Given the description of an element on the screen output the (x, y) to click on. 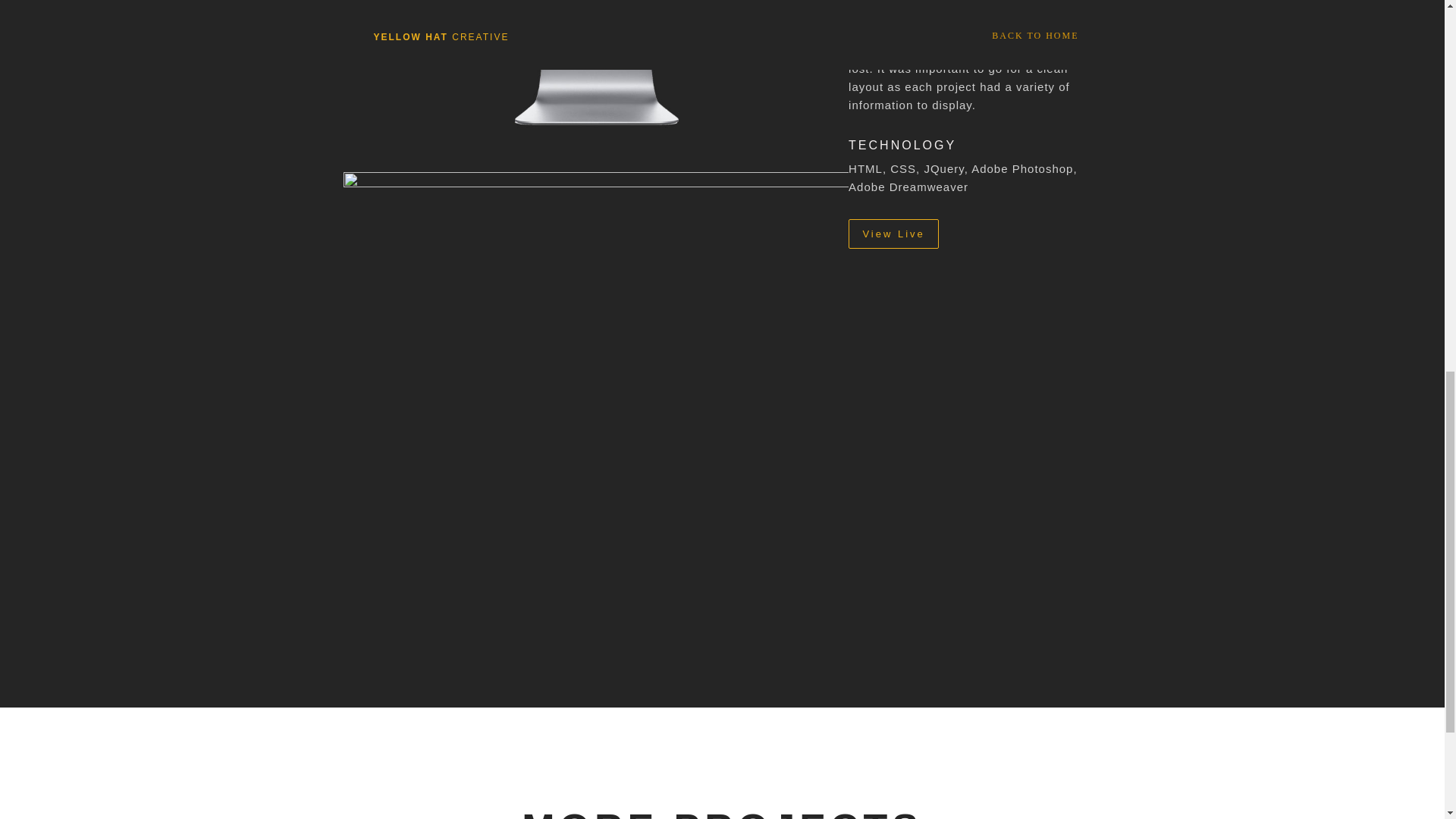
View Live (893, 233)
